Given the description of an element on the screen output the (x, y) to click on. 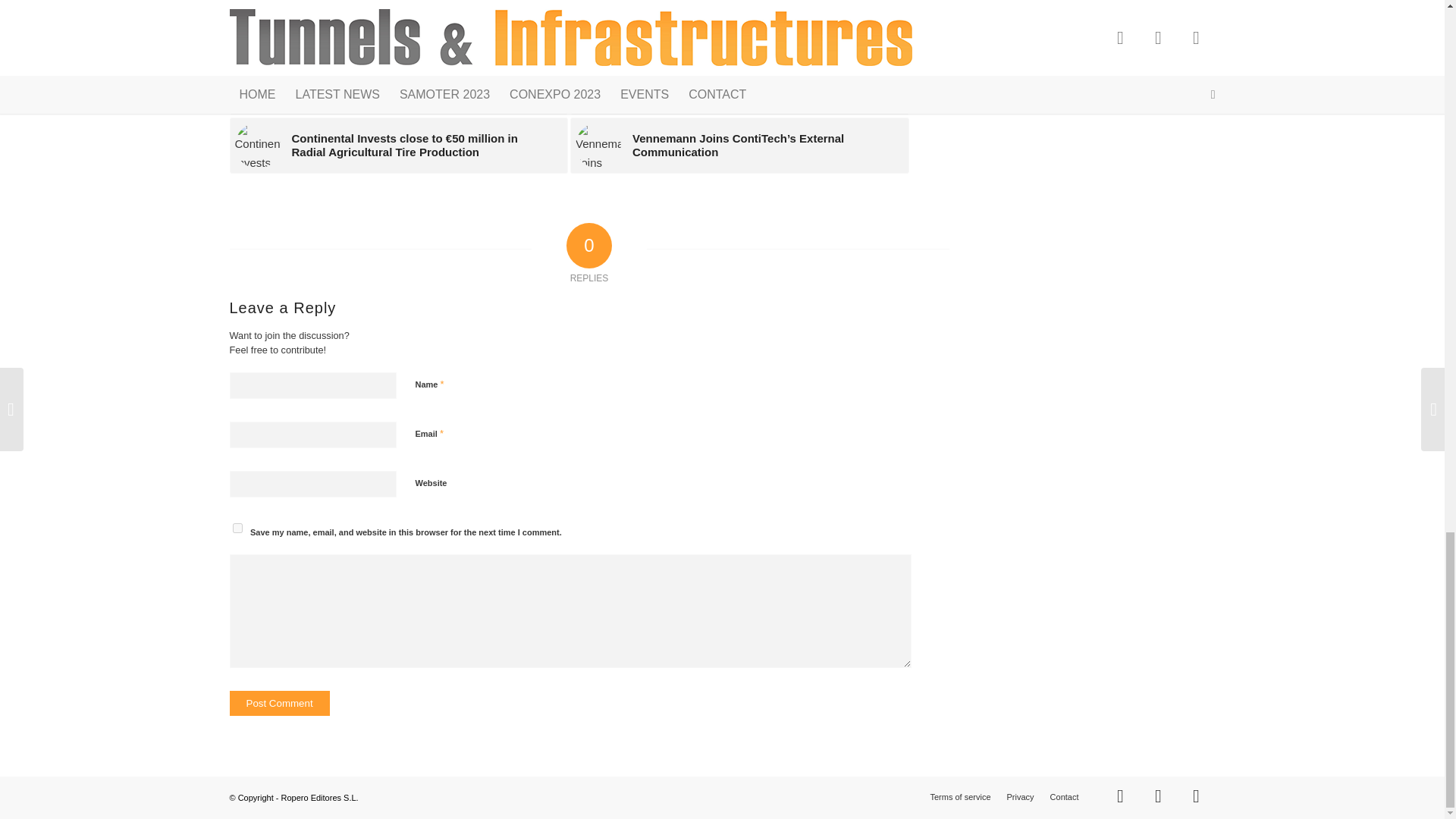
yes (236, 528)
Post Comment (278, 703)
1 (423, 560)
